Given the description of an element on the screen output the (x, y) to click on. 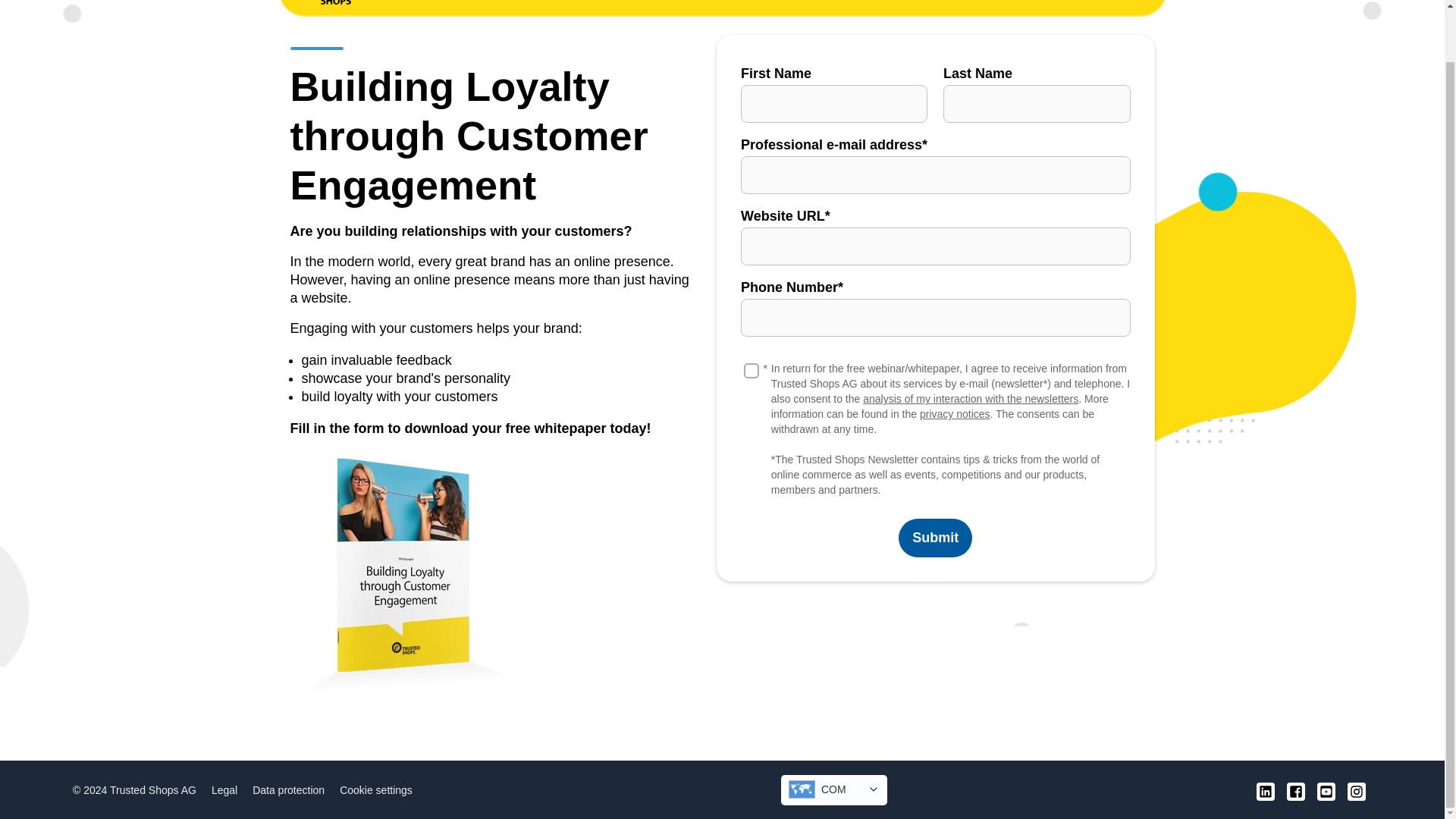
Legal (229, 789)
Data protection (293, 789)
privacy notices (955, 413)
Submit (935, 537)
Cookie settings (381, 789)
analysis of my interaction with the newsletters (970, 398)
Submit (935, 537)
